Given the description of an element on the screen output the (x, y) to click on. 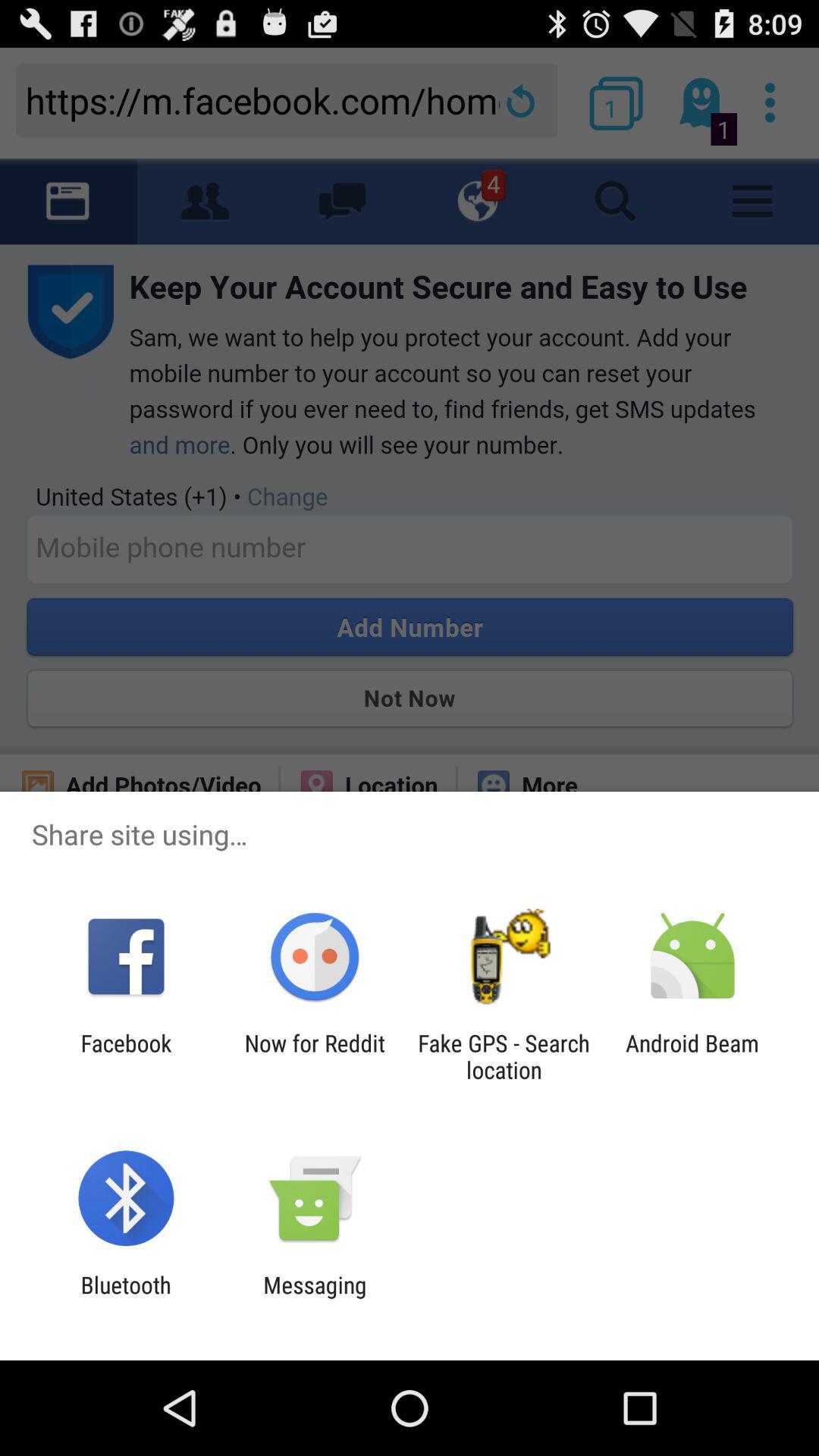
turn on the android beam icon (692, 1056)
